Given the description of an element on the screen output the (x, y) to click on. 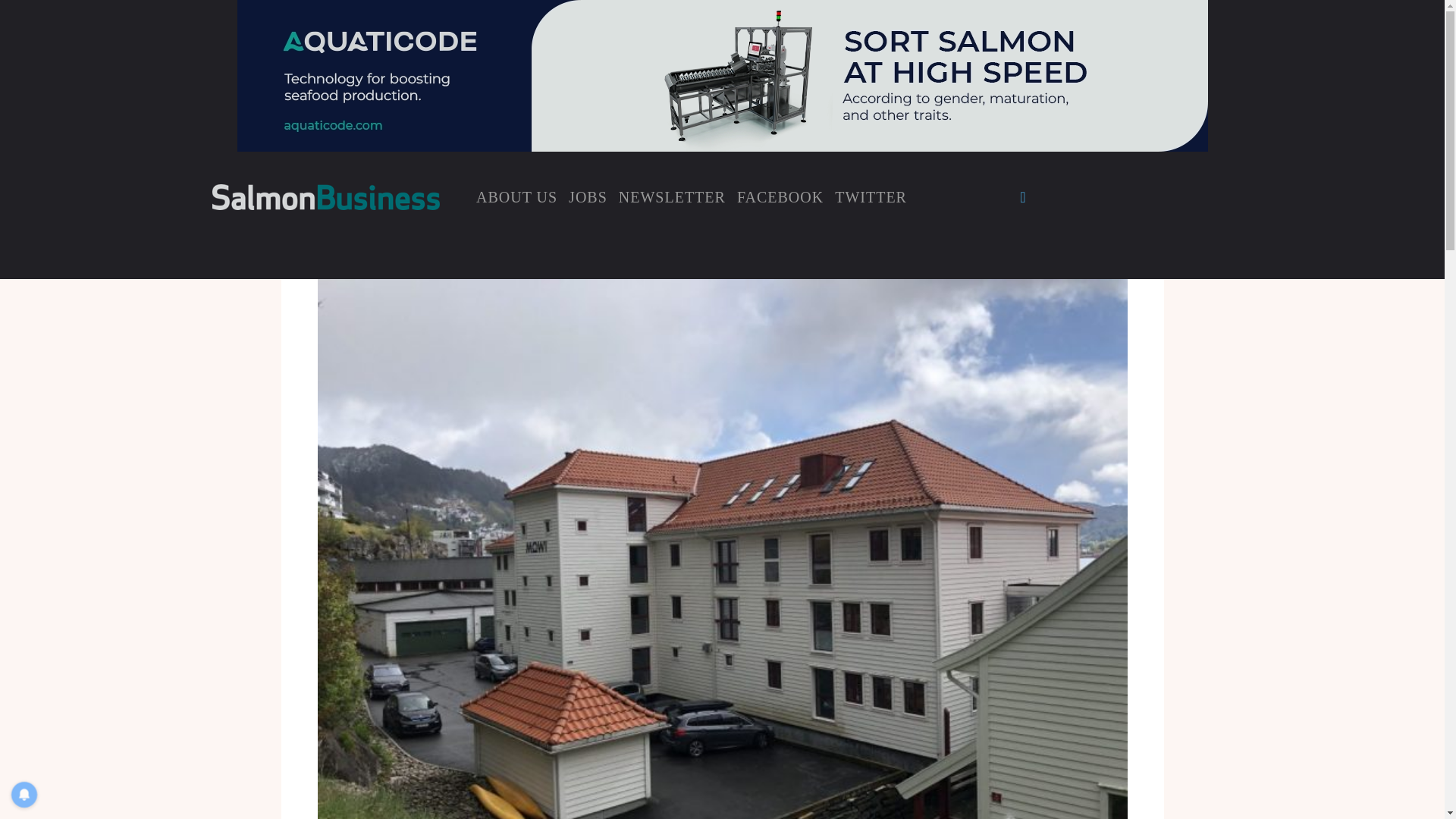
FACEBOOK (780, 196)
NEWSLETTER (671, 196)
ABOUT US (516, 196)
